Given the description of an element on the screen output the (x, y) to click on. 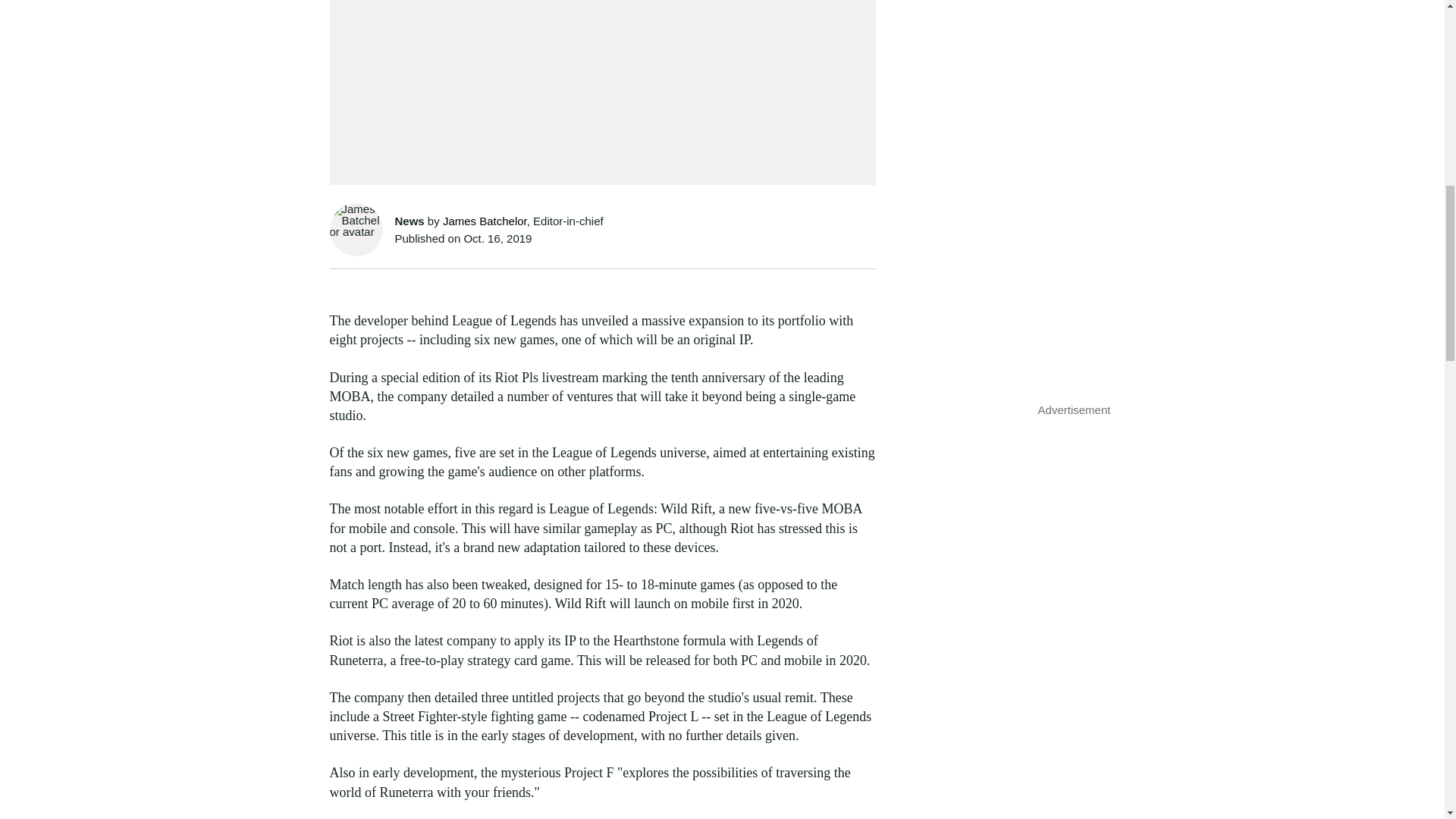
James Batchelor (484, 220)
